Given the description of an element on the screen output the (x, y) to click on. 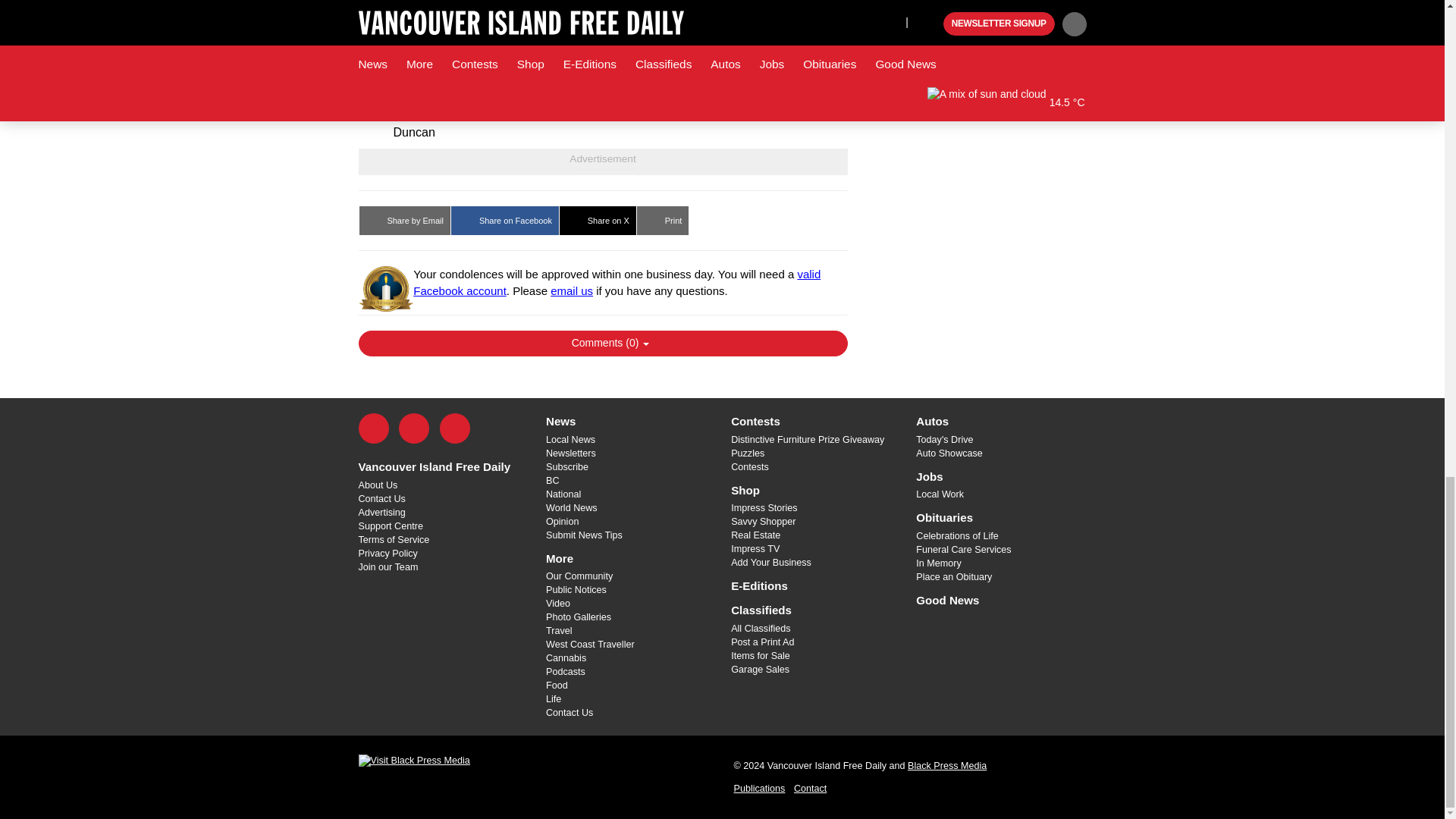
Instagram (454, 428)
Show Comments (602, 343)
X (413, 428)
Facebook (373, 428)
